Given the description of an element on the screen output the (x, y) to click on. 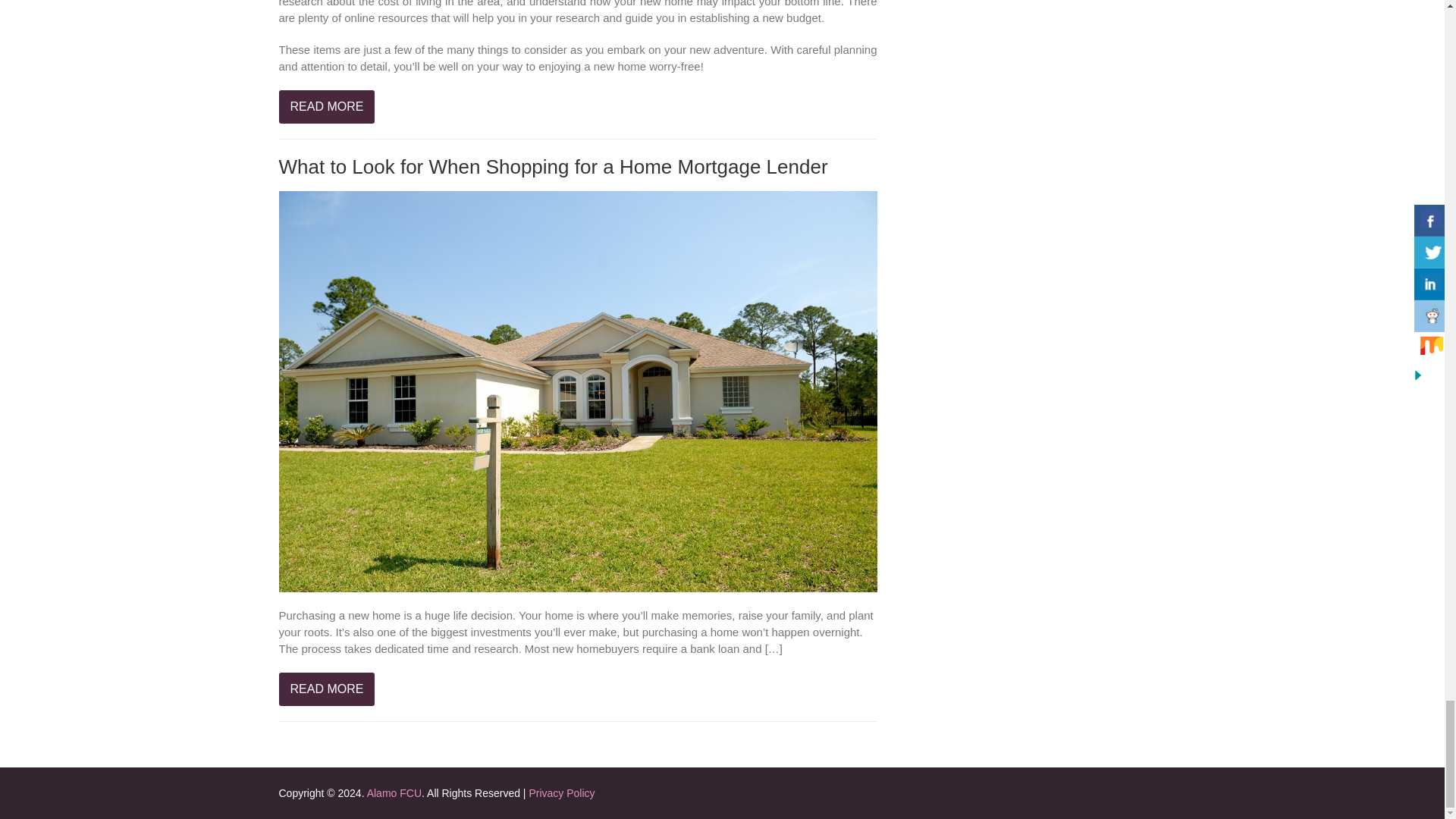
READ MORE (327, 106)
